Given the description of an element on the screen output the (x, y) to click on. 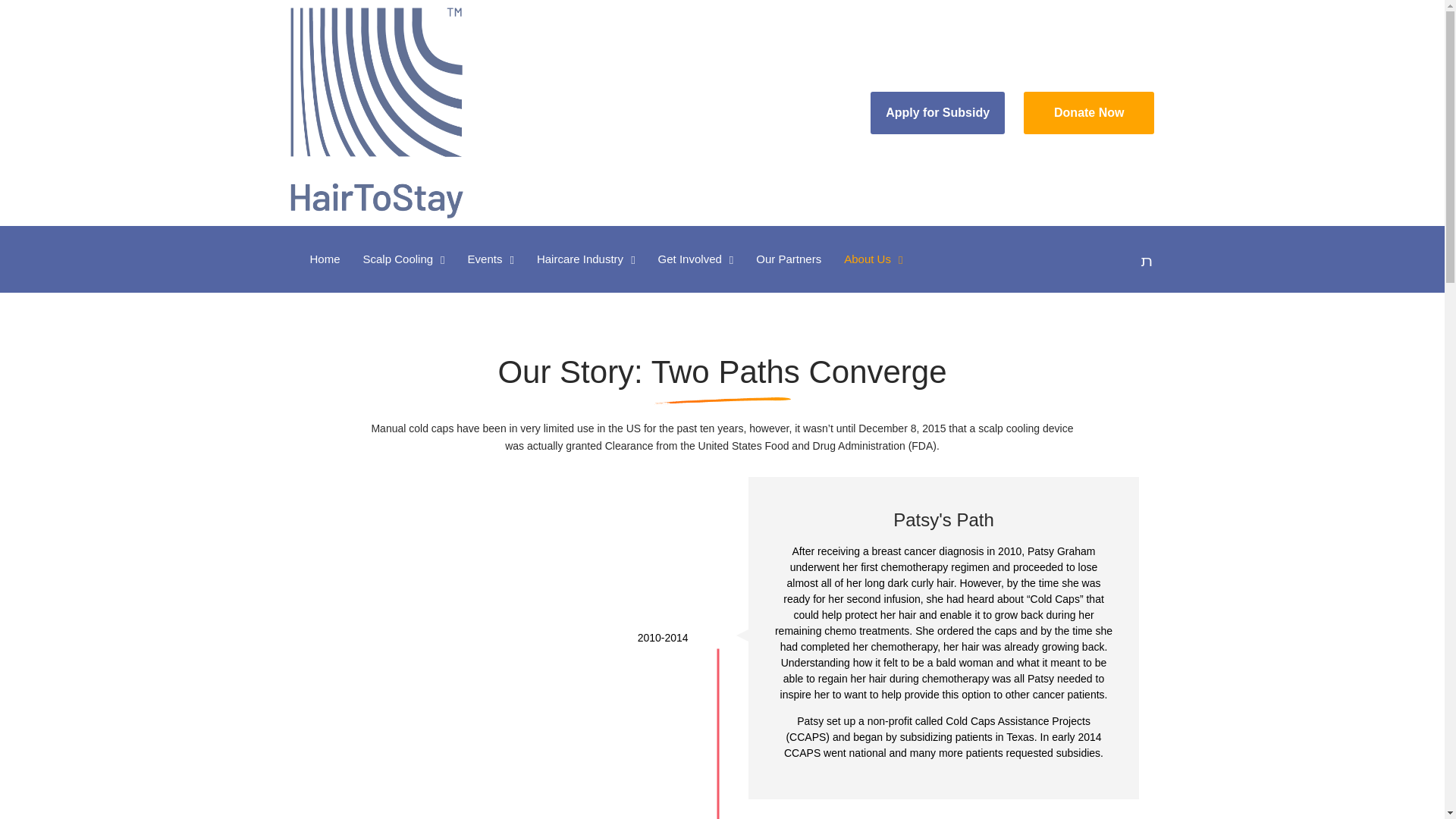
Home (329, 258)
Haircare Industry (585, 258)
Our Partners (788, 258)
Events (491, 258)
Scalp Cooling (404, 258)
Apply for Subsidy (937, 112)
Donate Now (1088, 112)
Get Involved (695, 258)
About Us (873, 258)
